Given the description of an element on the screen output the (x, y) to click on. 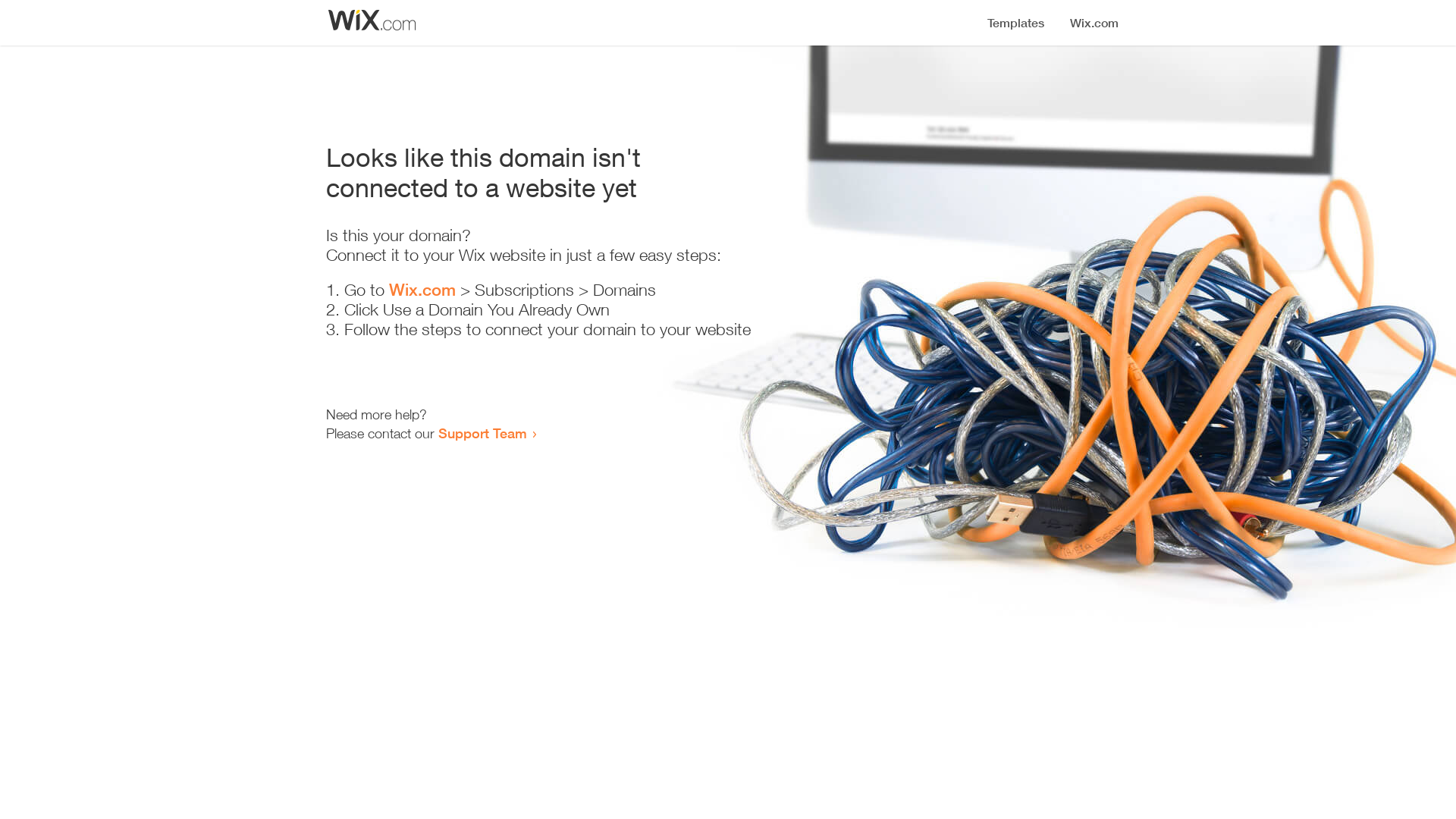
Wix.com Element type: text (422, 289)
Support Team Element type: text (482, 432)
